Given the description of an element on the screen output the (x, y) to click on. 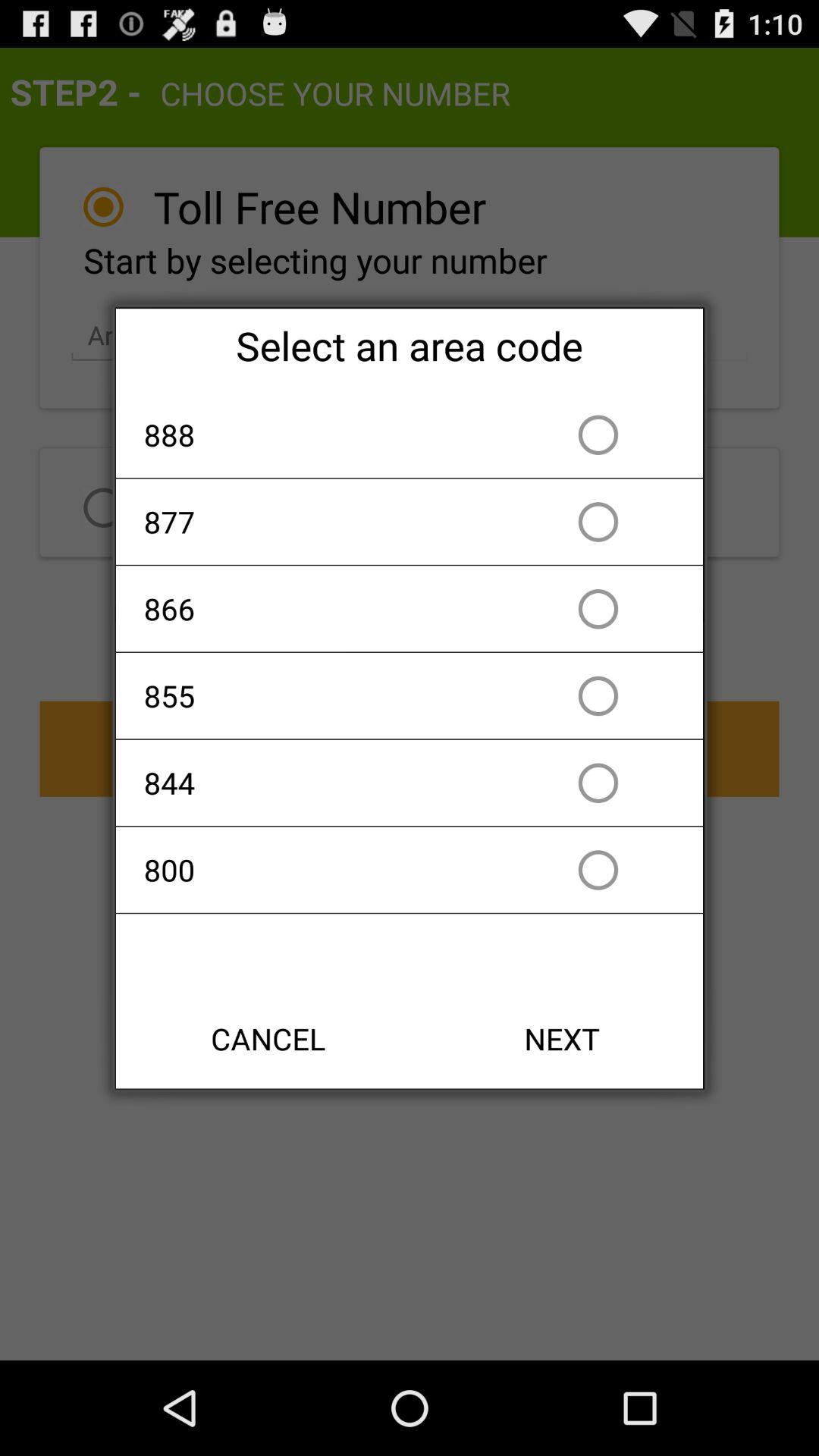
tap next button (561, 1038)
